Given the description of an element on the screen output the (x, y) to click on. 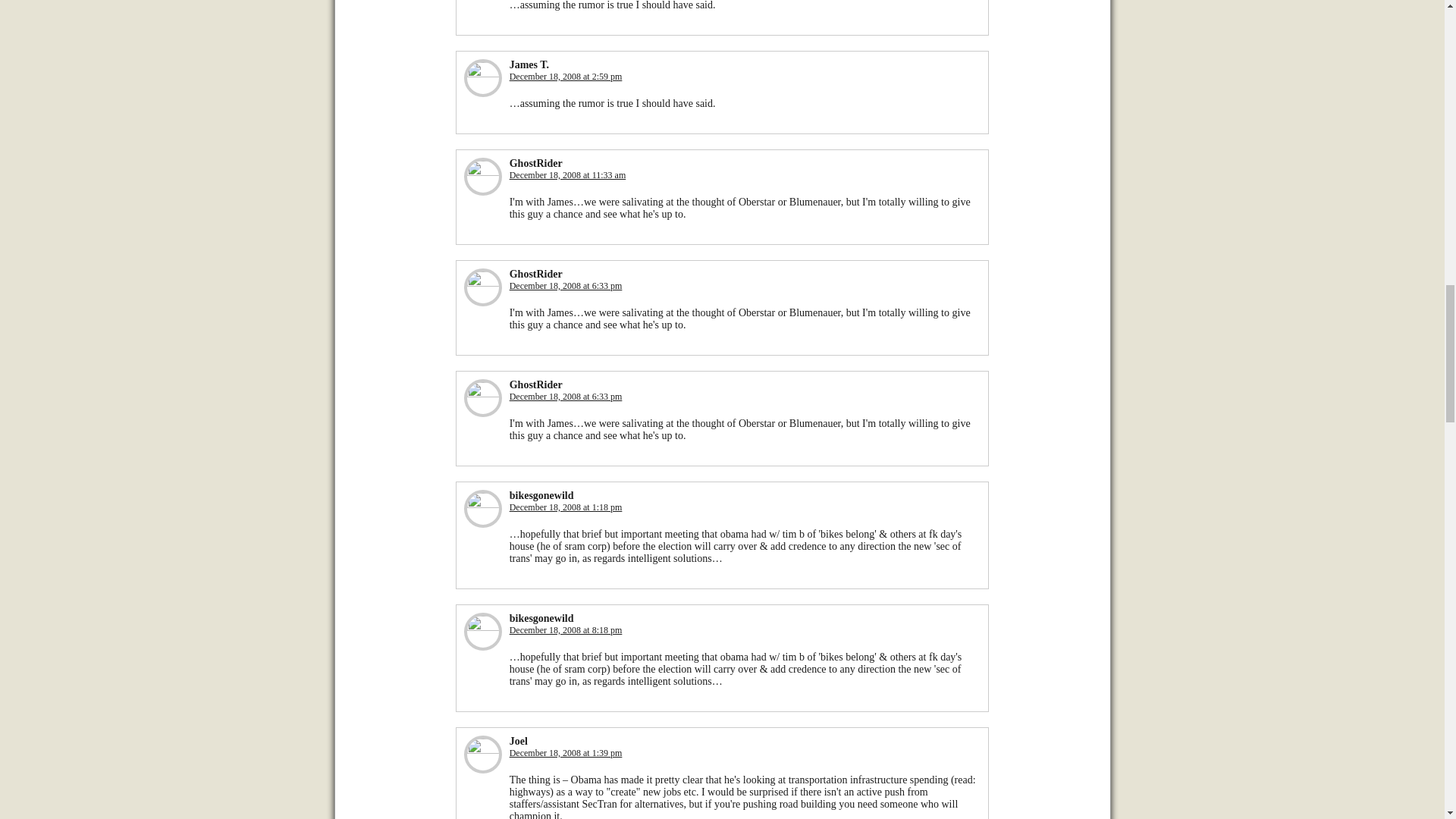
December 18, 2008 at 1:18 pm (566, 507)
December 18, 2008 at 2:59 pm (566, 76)
December 18, 2008 at 1:39 pm (566, 752)
December 18, 2008 at 8:18 pm (566, 629)
December 18, 2008 at 11:33 am (567, 174)
December 18, 2008 at 6:33 pm (566, 285)
December 18, 2008 at 6:33 pm (566, 396)
